Given the description of an element on the screen output the (x, y) to click on. 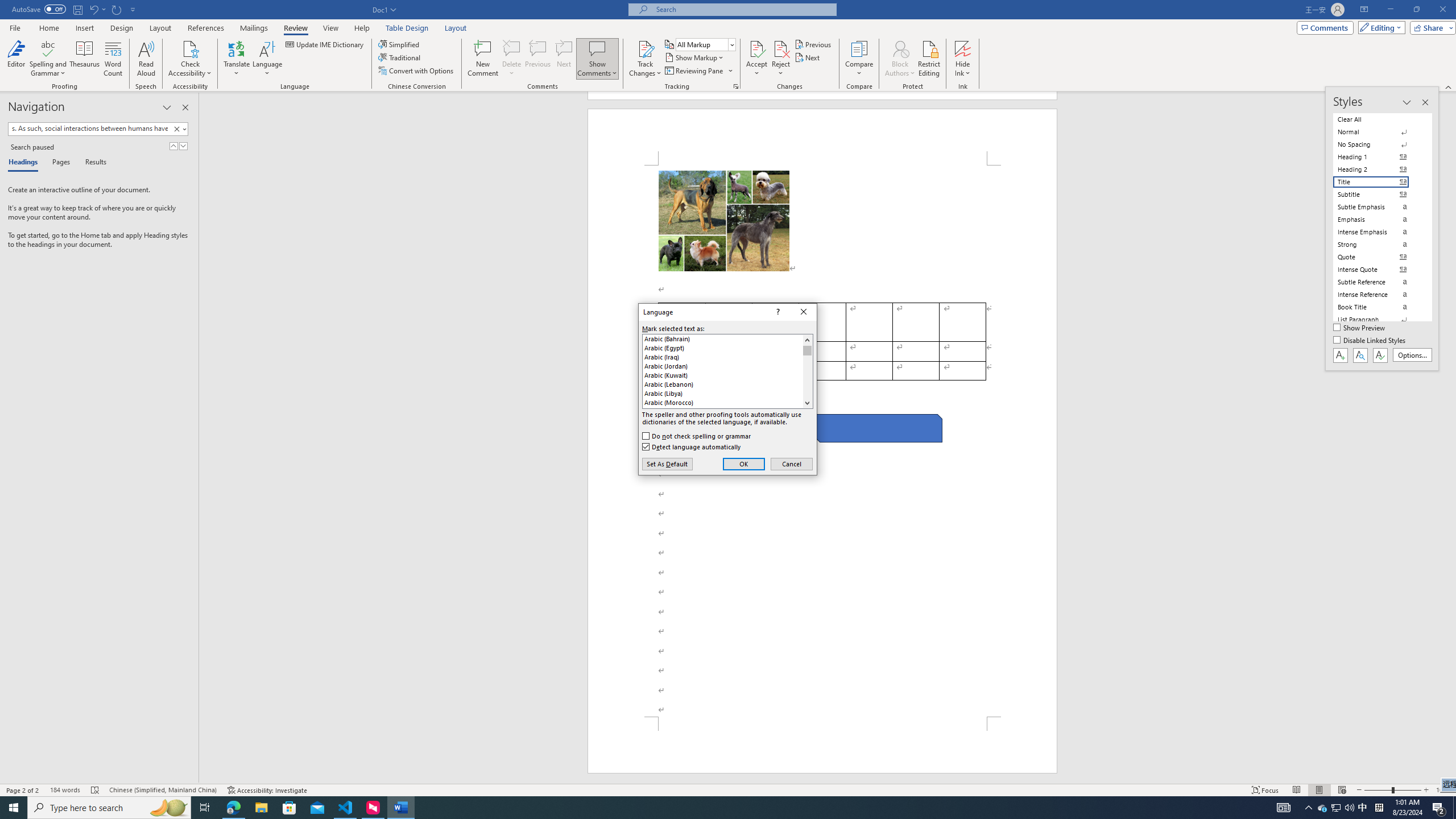
Hide Ink (962, 58)
Repeat Style (117, 9)
Heading 2 (1377, 169)
Previous (813, 44)
Line down (807, 402)
Subtle Emphasis (1377, 206)
Reviewing Pane (698, 69)
